Given the description of an element on the screen output the (x, y) to click on. 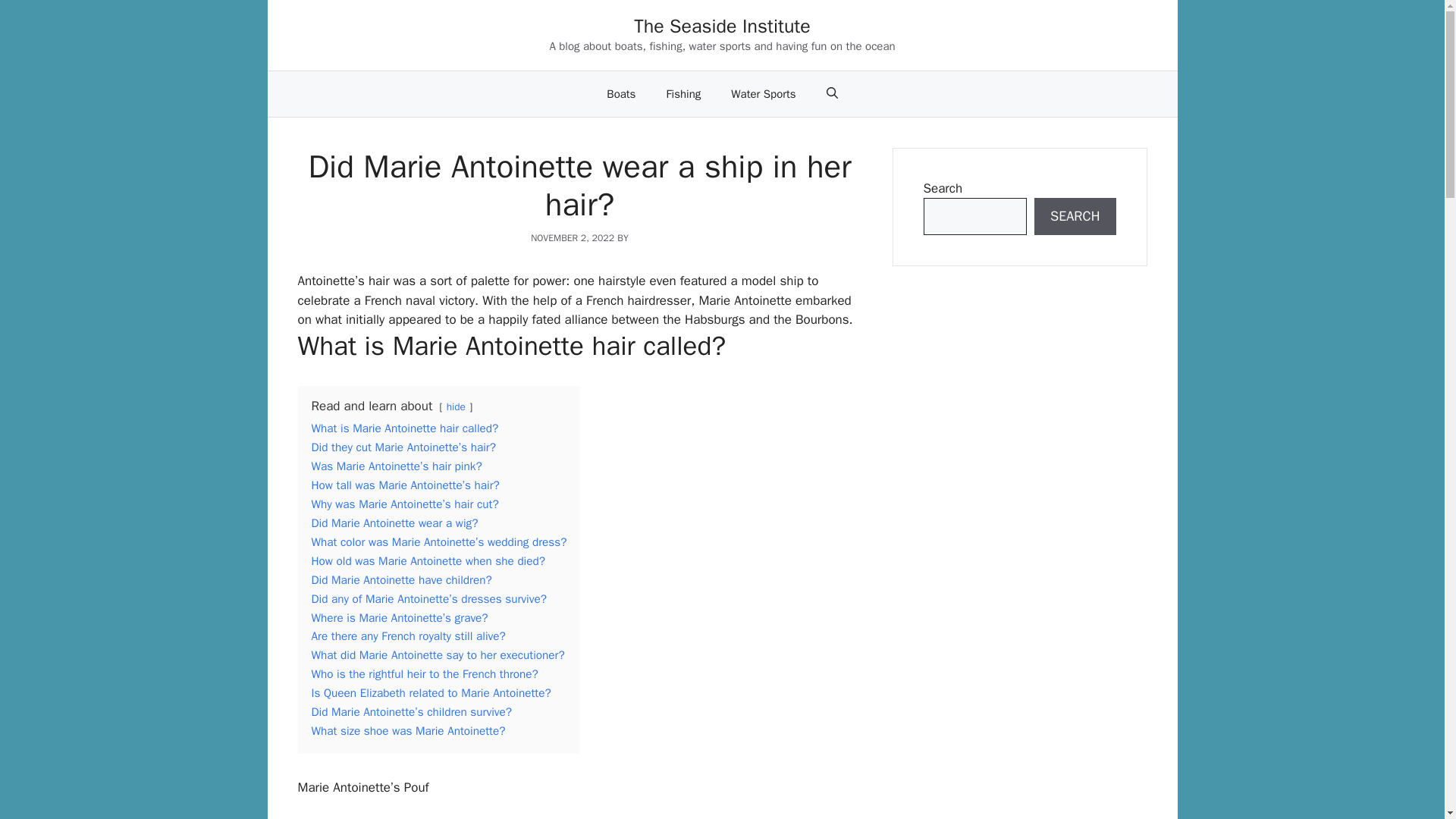
Are there any French royalty still alive? (408, 635)
What size shoe was Marie Antoinette? (408, 730)
Boats (620, 94)
The Seaside Institute (721, 25)
Did Marie Antoinette wear a wig? (394, 522)
What is Marie Antoinette hair called? (404, 427)
Who is the rightful heir to the French throne? (424, 673)
Water Sports (763, 94)
Did Marie Antoinette have children? (401, 580)
What did Marie Antoinette say to her executioner? (437, 654)
